Given the description of an element on the screen output the (x, y) to click on. 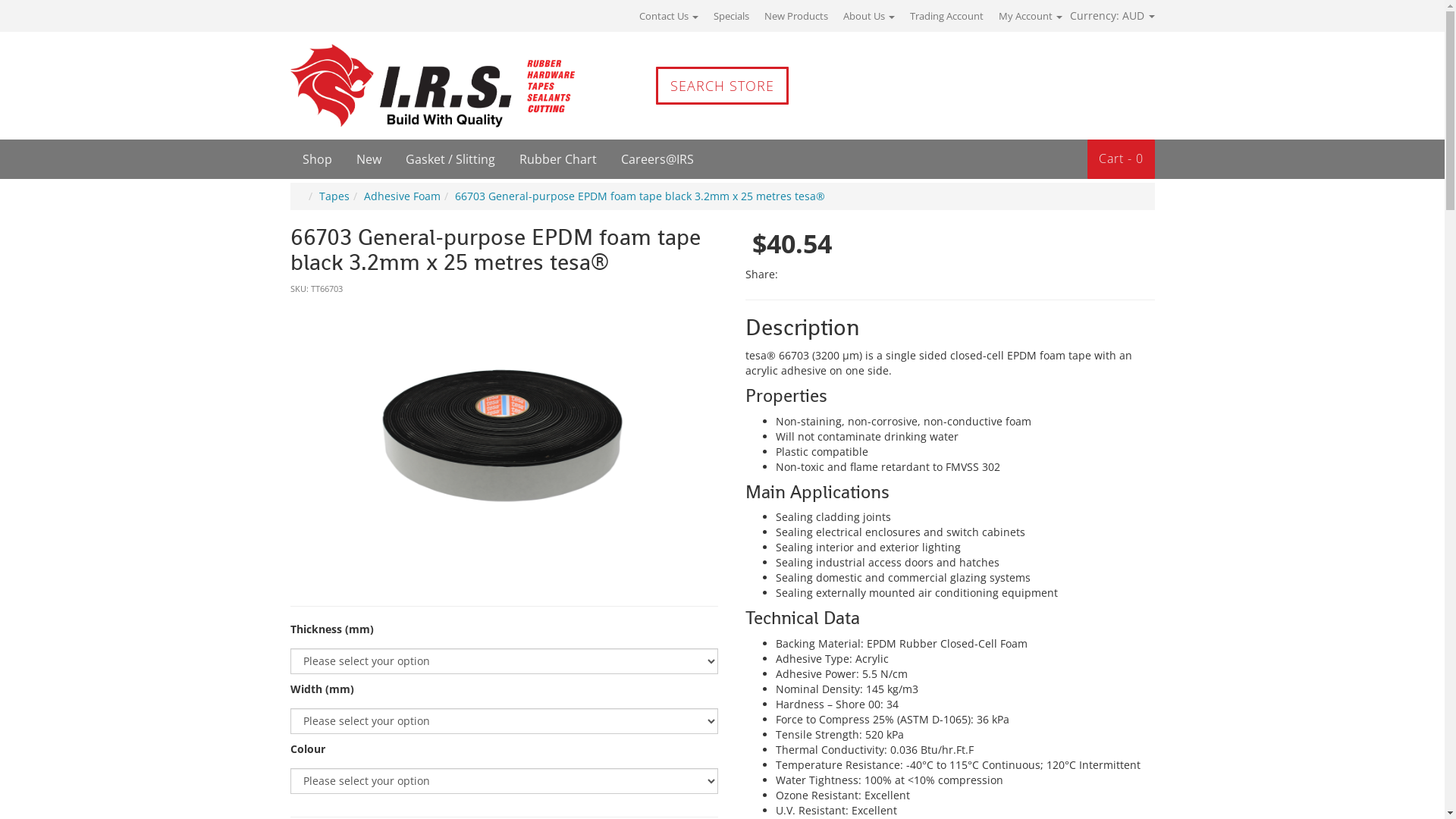
Contact Us Element type: text (667, 15)
Adhesive Foam Element type: text (402, 195)
Tapes Element type: text (333, 195)
SEARCH STORE Element type: text (721, 85)
About Us Element type: text (868, 15)
IRS Element type: hover (391, 85)
Gasket / Slitting Element type: text (449, 158)
Cart - 0 Element type: text (1120, 158)
Careers@IRS Element type: text (656, 158)
Shop Element type: text (316, 158)
Currency: AUD Element type: text (1107, 15)
New Element type: text (368, 158)
New Products Element type: text (795, 15)
My Account Element type: text (1029, 15)
Specials Element type: text (730, 15)
Trading Account Element type: text (946, 15)
Rubber Chart Element type: text (557, 158)
